Given the description of an element on the screen output the (x, y) to click on. 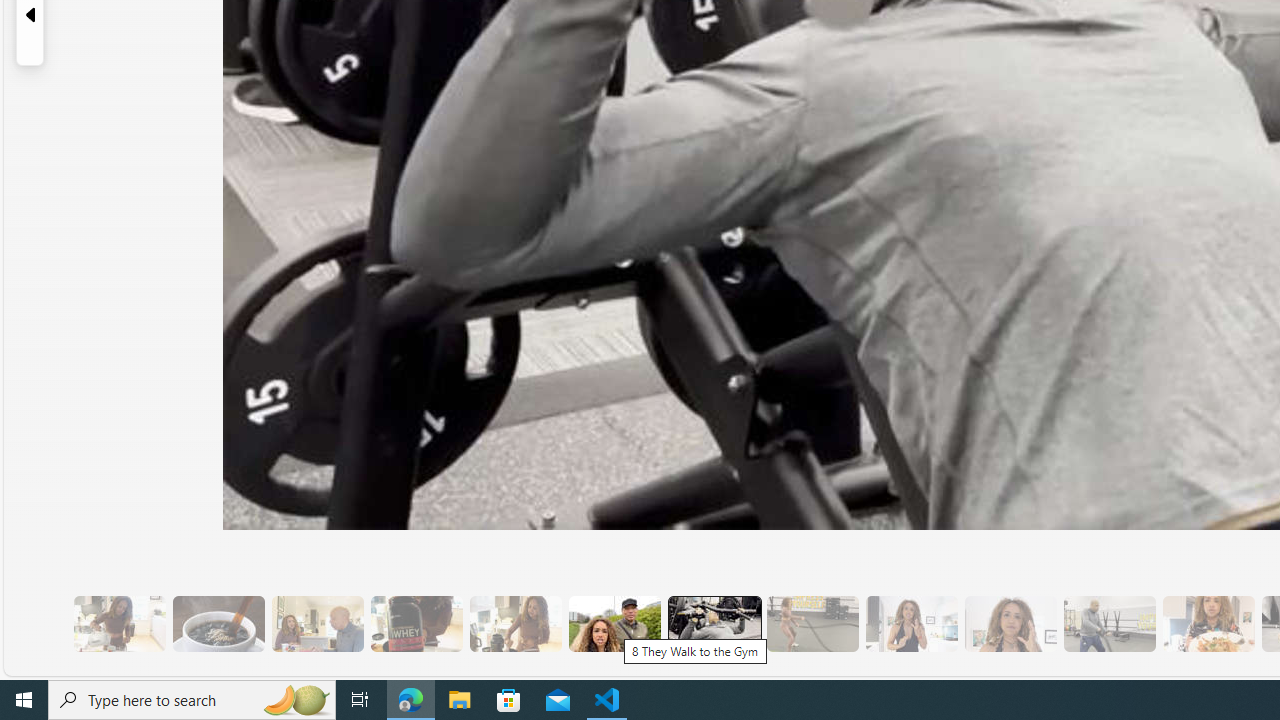
8 Be Mindful of Coffee (217, 624)
7 They Don't Skip Meals (514, 624)
11 They Eat More Protein for Breakfast (911, 624)
8 They Walk to the Gym (614, 624)
8 Be Mindful of Coffee (217, 624)
5 She Eats Less Than Her Husband (317, 624)
5 She Eats Less Than Her Husband (317, 624)
6 Since Eating More Protein Her Training Has Improved (416, 624)
